Given the description of an element on the screen output the (x, y) to click on. 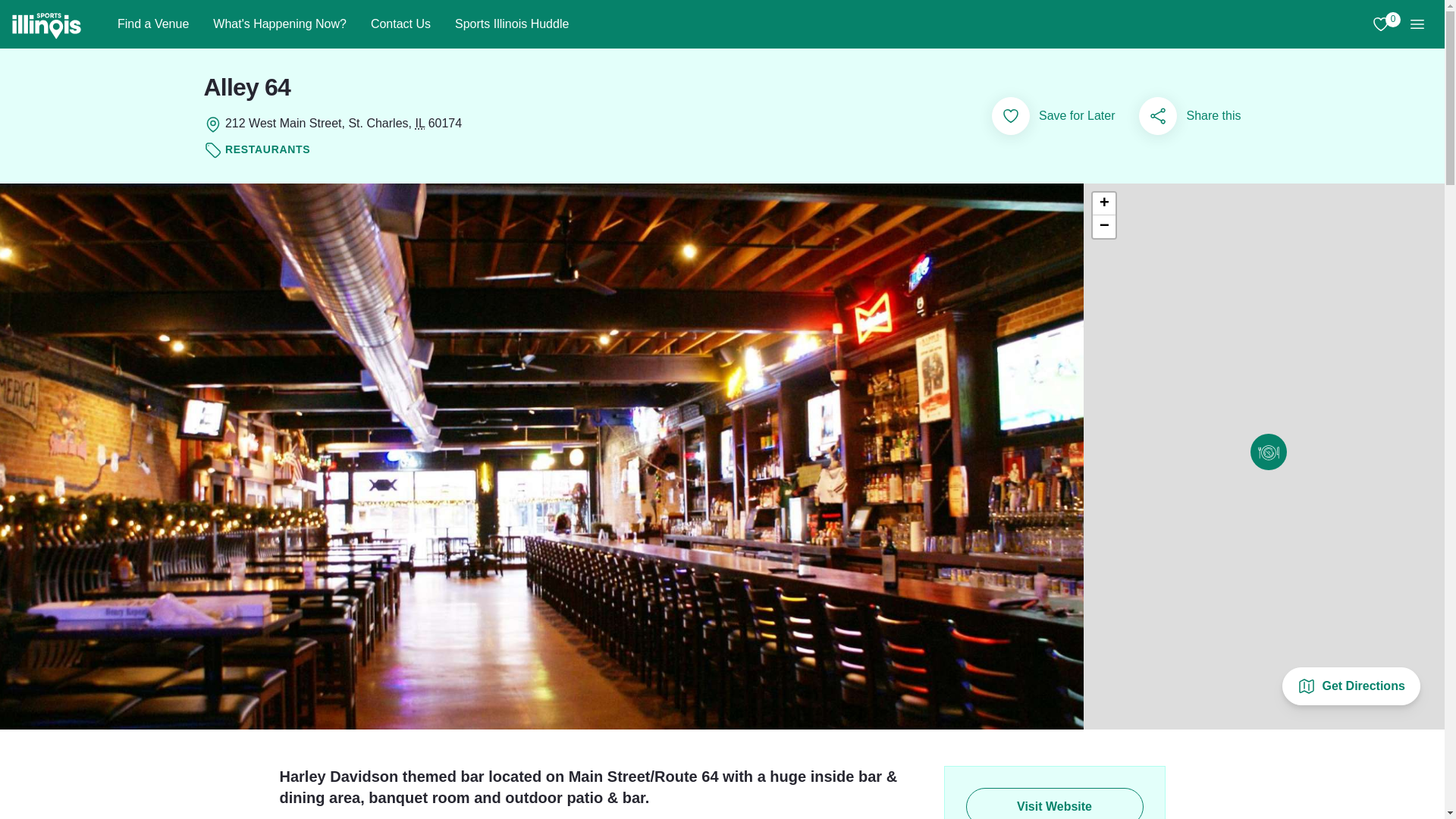
Get Directions (1351, 686)
Menu (1417, 24)
Find a Venue (152, 24)
What's Happening Now? (279, 24)
Sports Illinois Huddle (511, 24)
Zoom out (1104, 226)
Contact Us (400, 24)
Illinois (1380, 24)
Zoom in (419, 123)
Visit Website (1104, 203)
Add to Favorites (1054, 803)
